Given the description of an element on the screen output the (x, y) to click on. 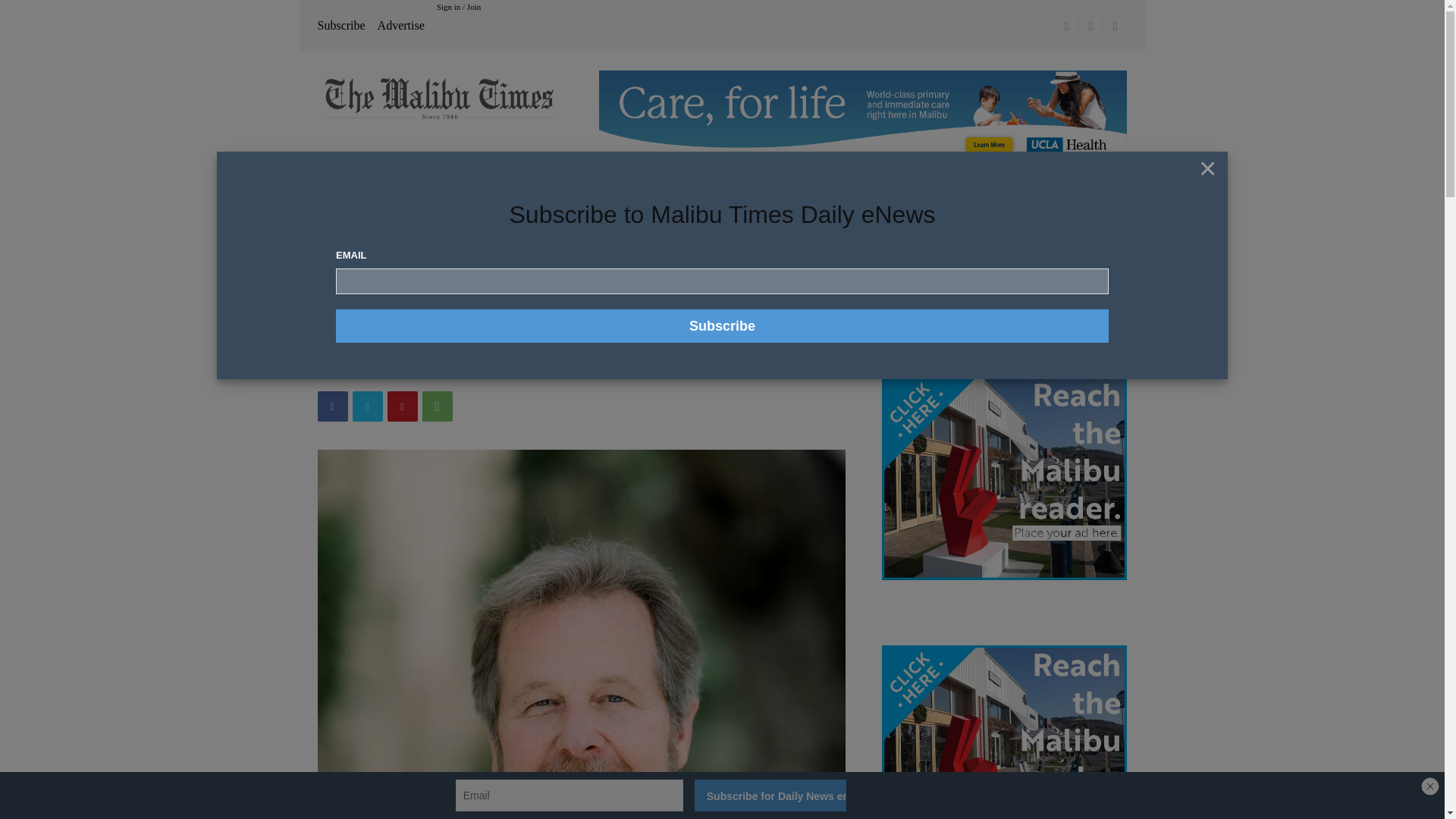
Instagram (1090, 25)
Pinterest (401, 406)
Subscribe for Daily News email (769, 795)
Twitter (366, 406)
View all posts in Opinion (371, 283)
WhatsApp (436, 406)
Facebook (332, 406)
Facebook (1066, 25)
Subscribe (722, 326)
Twitter (1114, 25)
